Given the description of an element on the screen output the (x, y) to click on. 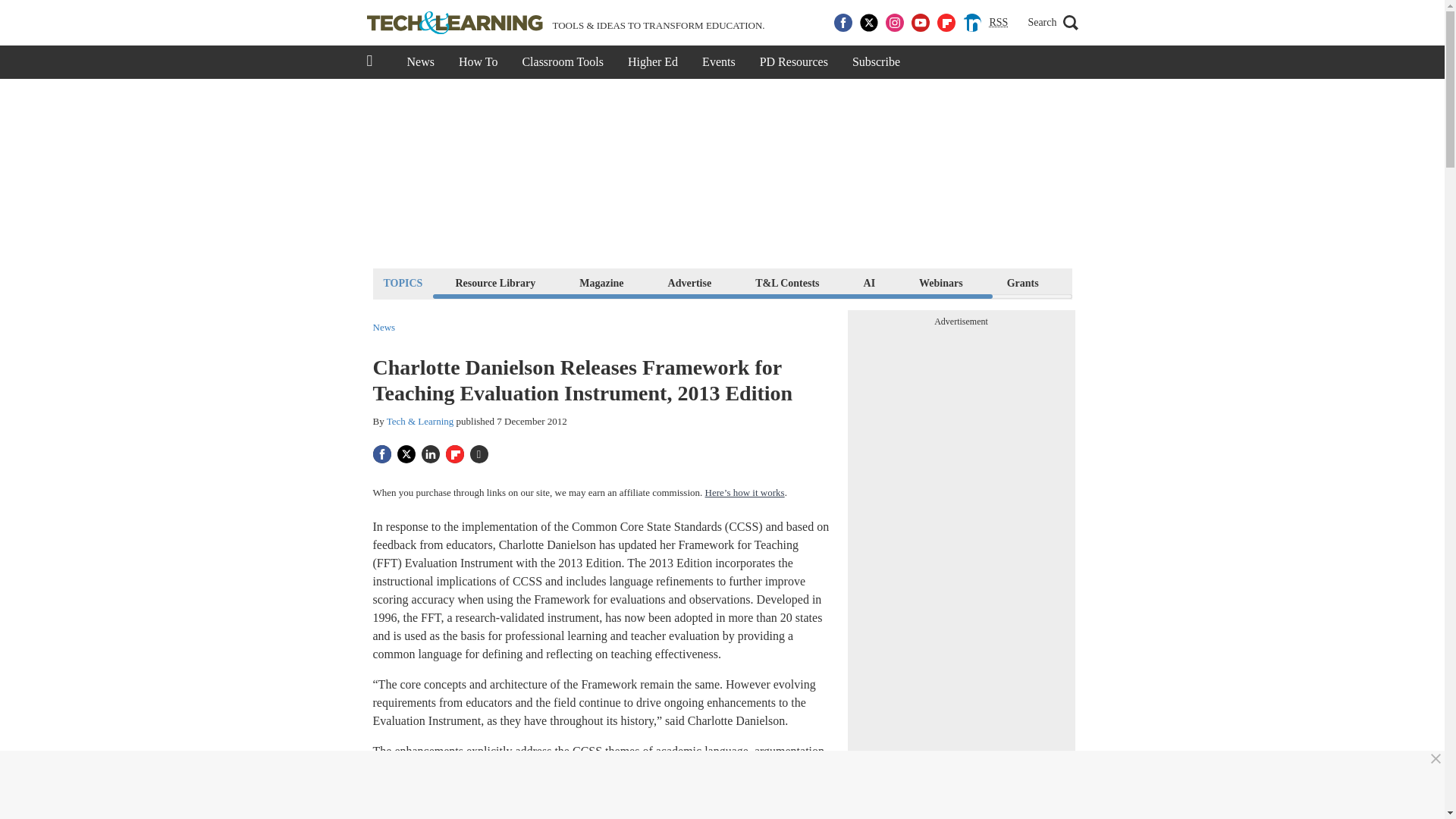
Subscribe (876, 61)
Webinars (941, 282)
How To (477, 61)
News (384, 327)
Advertisement (721, 173)
Magazine (600, 282)
Resource Library (494, 282)
What to Buy (1111, 282)
Higher Ed (652, 61)
Advertise (689, 282)
Events (719, 61)
Classroom Tools (561, 61)
AI (869, 282)
